Given the description of an element on the screen output the (x, y) to click on. 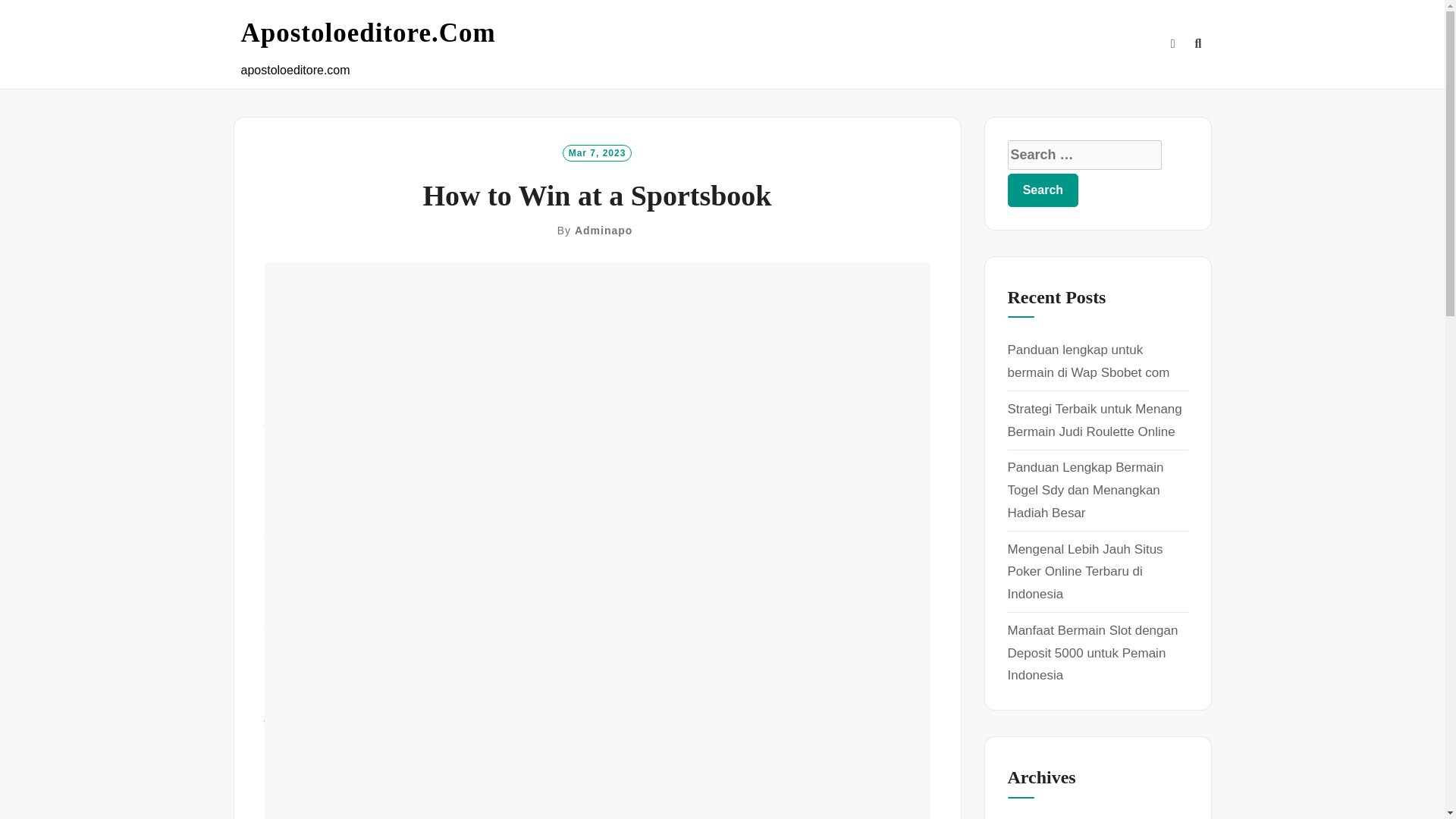
Adminapo (603, 230)
Panduan lengkap untuk bermain di Wap Sbobet com (1088, 361)
Apostoloeditore.Com (368, 33)
Mar 7, 2023 (596, 152)
Search (1042, 190)
Search (1042, 190)
Search (1042, 190)
Strategi Terbaik untuk Menang Bermain Judi Roulette Online (1093, 420)
Panduan Lengkap Bermain Togel Sdy dan Menangkan Hadiah Besar (1085, 490)
